Given the description of an element on the screen output the (x, y) to click on. 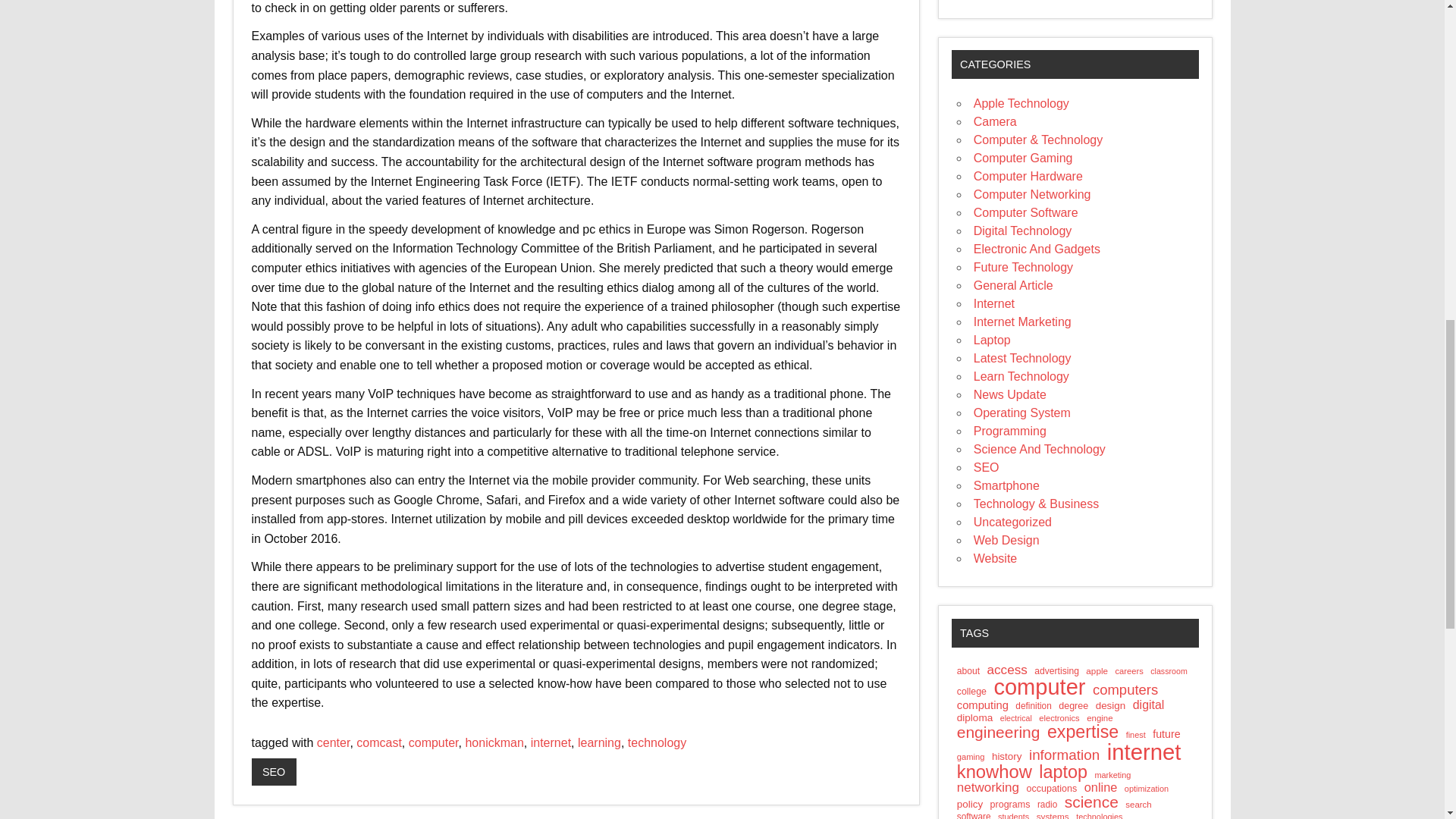
learning (599, 742)
technology (656, 742)
honickman (493, 742)
SEO (274, 771)
computer (433, 742)
center (333, 742)
comcast (378, 742)
internet (550, 742)
